Given the description of an element on the screen output the (x, y) to click on. 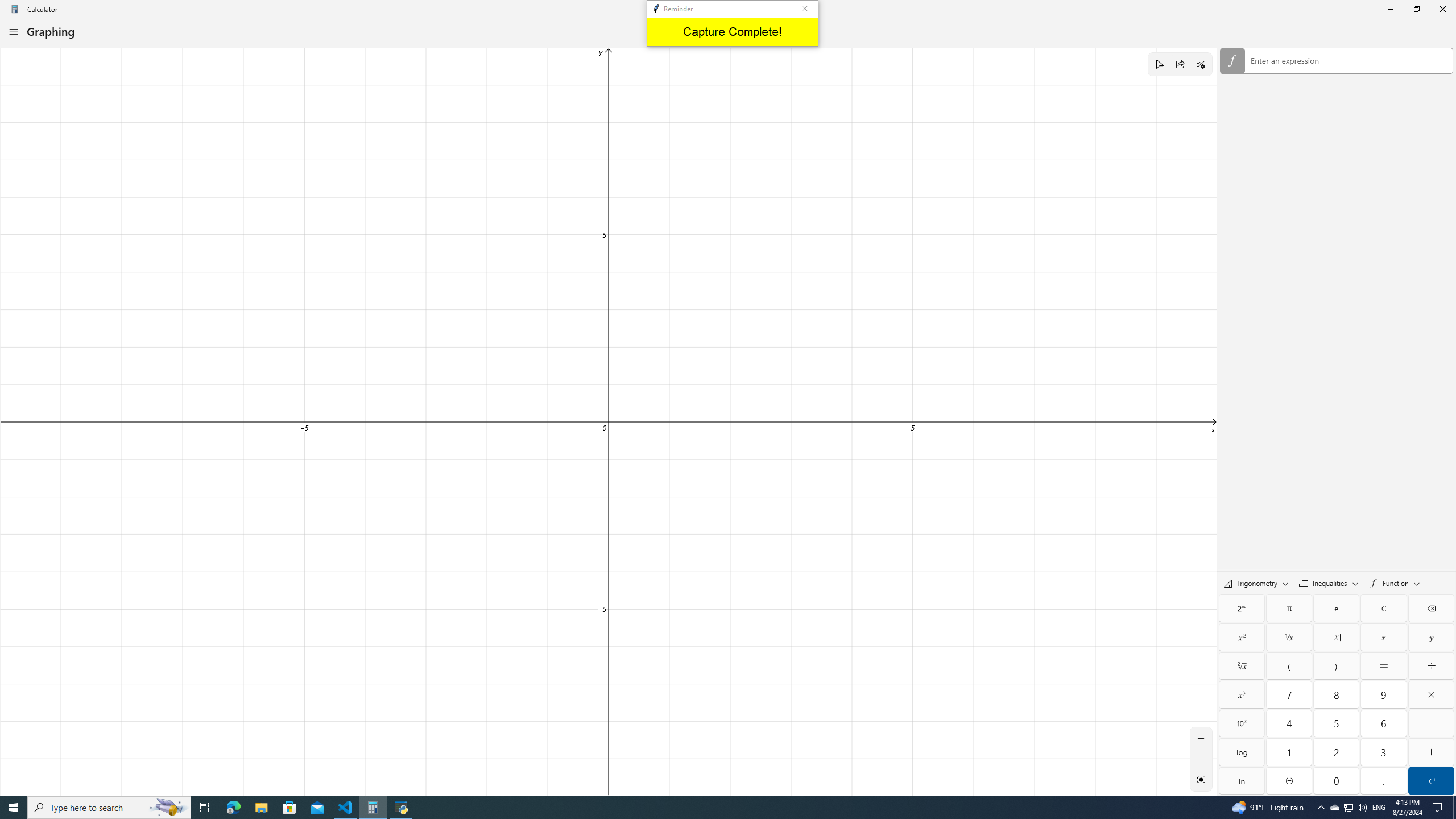
Natural log (1241, 780)
Graph options (1200, 63)
Equals (1382, 665)
Five (1336, 723)
Ten to the exponent (1241, 723)
Functions (1394, 582)
Left parenthesis (1288, 665)
Three (1382, 751)
Log (1241, 751)
Trigonometry (1255, 582)
